Given the description of an element on the screen output the (x, y) to click on. 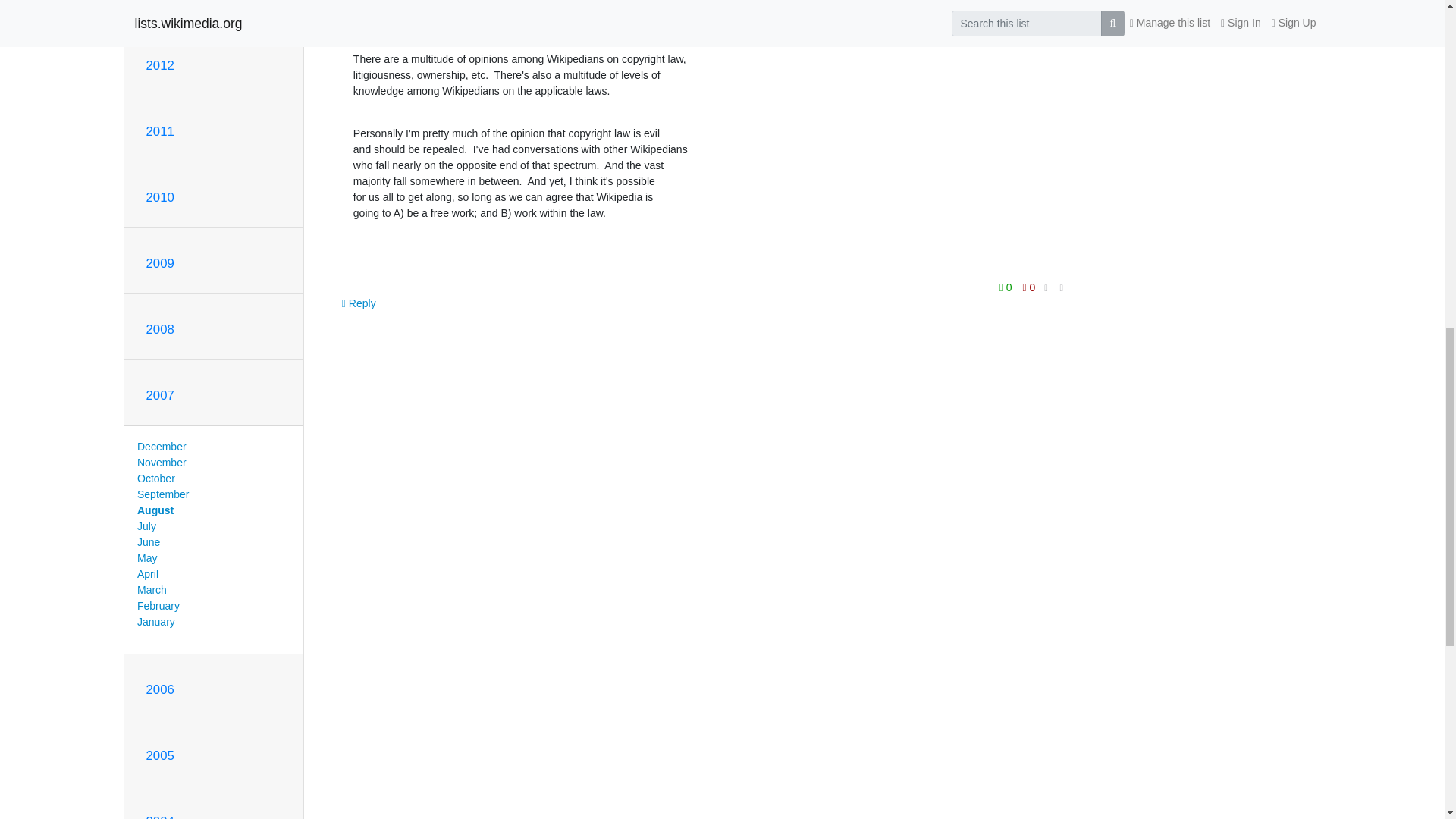
You must be logged-in to vote. (1007, 287)
You must be logged-in to vote. (1029, 287)
Sign in to reply online (359, 302)
